Given the description of an element on the screen output the (x, y) to click on. 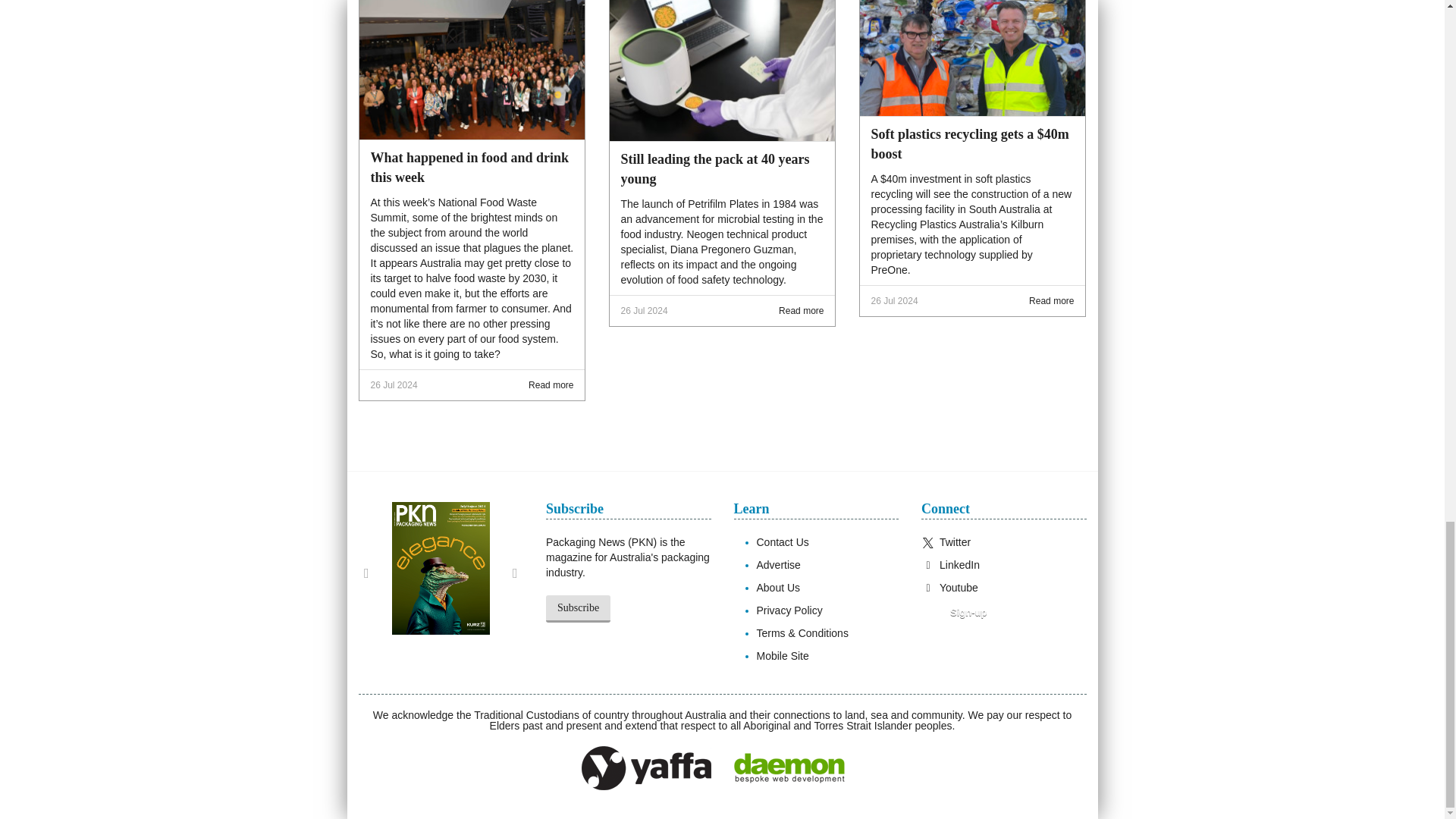
Preview (957, 612)
